Given the description of an element on the screen output the (x, y) to click on. 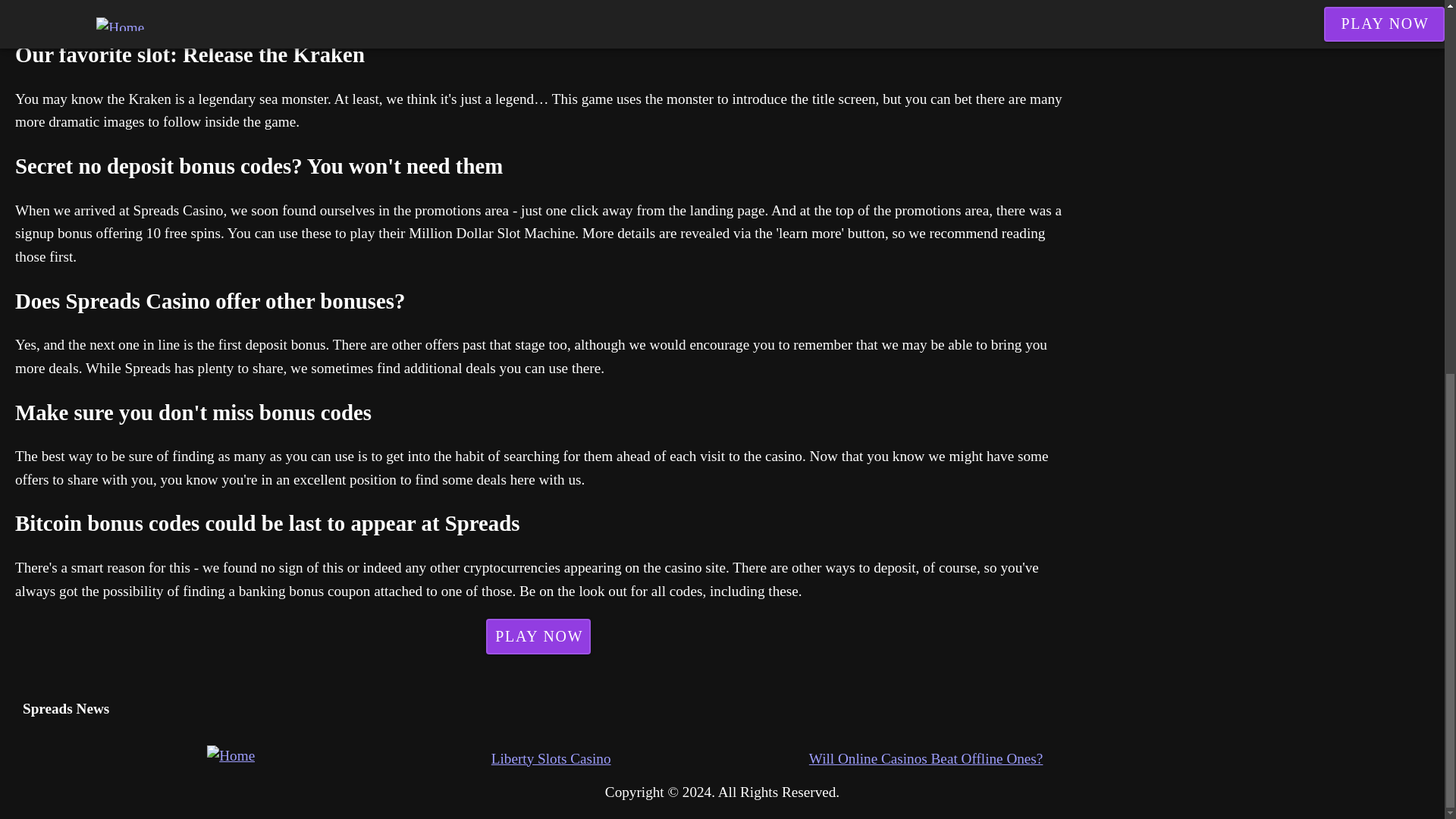
PLAY NOW (76, 16)
PLAY NOW (538, 636)
Liberty Slots Casino (650, 759)
Will Online Casinos Beat Offline Ones? (967, 759)
